Given the description of an element on the screen output the (x, y) to click on. 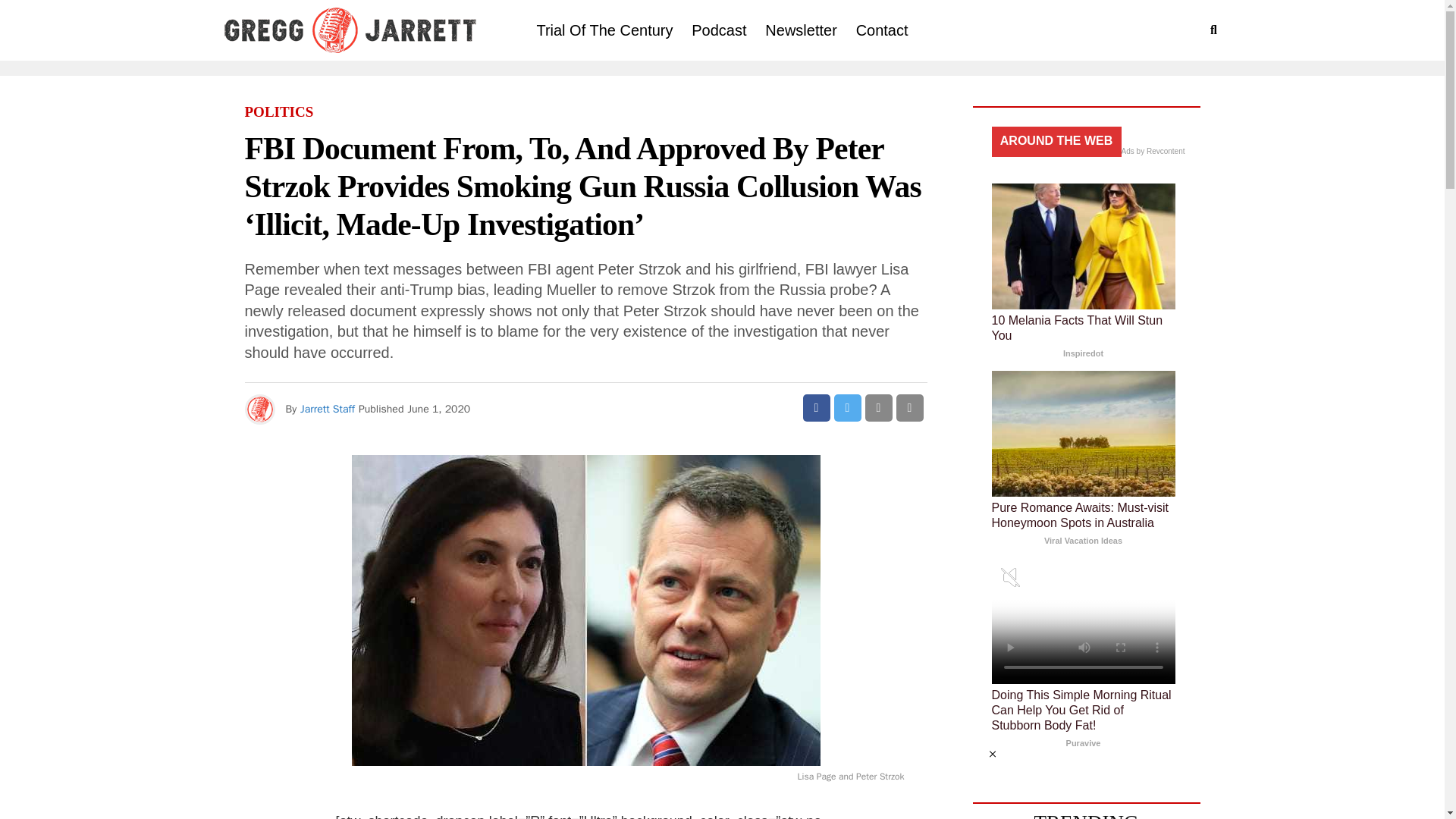
close (992, 754)
Contact (881, 30)
Share on Facebook (815, 407)
Advertisement (721, 782)
Posts by Jarrett Staff (327, 408)
Tweet This Post (847, 407)
Newsletter (800, 30)
Jarrett Staff (327, 408)
Podcast (719, 30)
Trial Of The Century (603, 30)
POLITICS (278, 112)
